Given the description of an element on the screen output the (x, y) to click on. 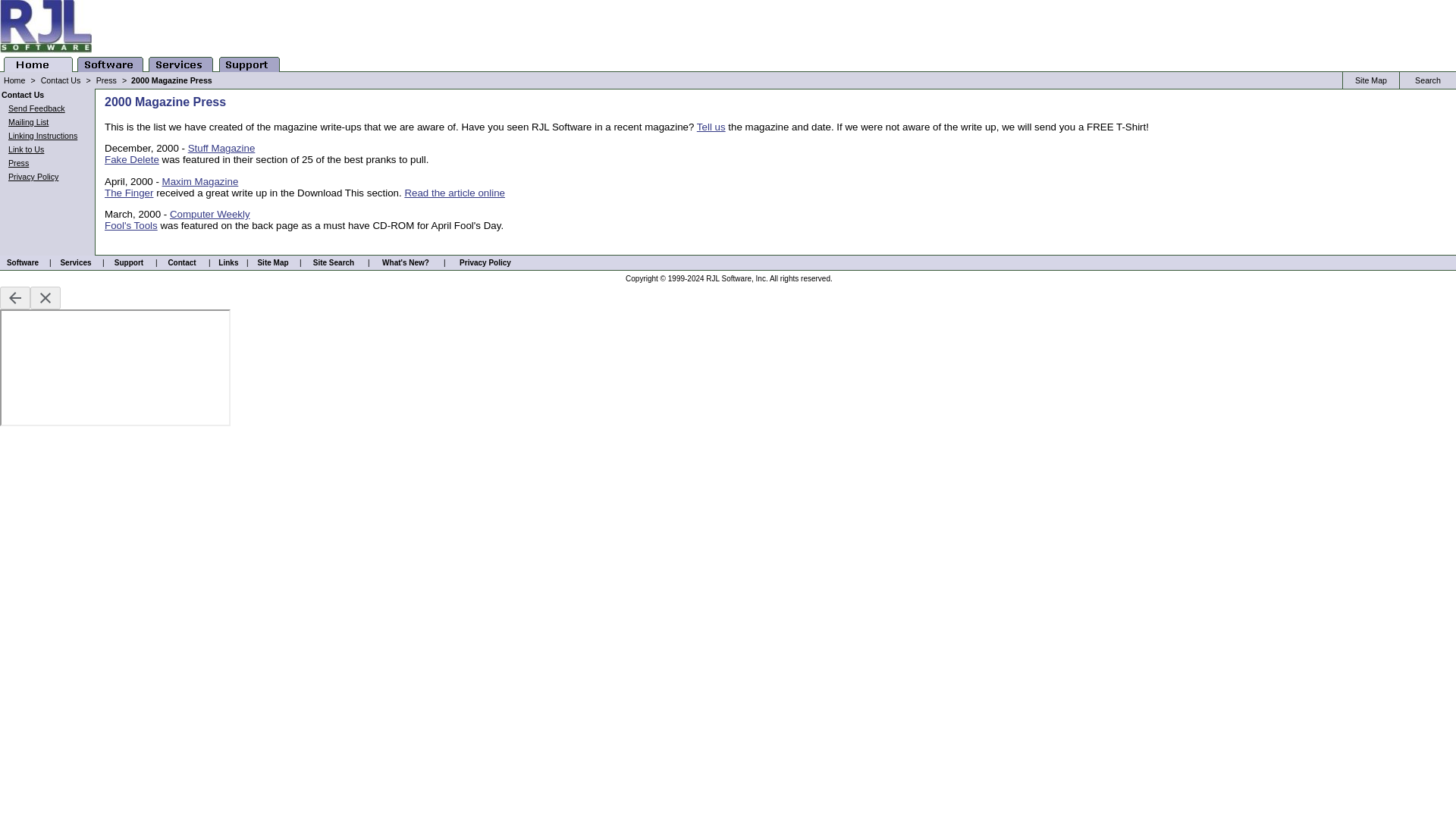
Site Map (1371, 80)
Copyright (642, 278)
Support (128, 262)
Link to Us (25, 148)
Site Map (272, 262)
Press (18, 162)
Software (23, 262)
What's New? (405, 262)
Home (14, 80)
Mailing List (28, 121)
